Given the description of an element on the screen output the (x, y) to click on. 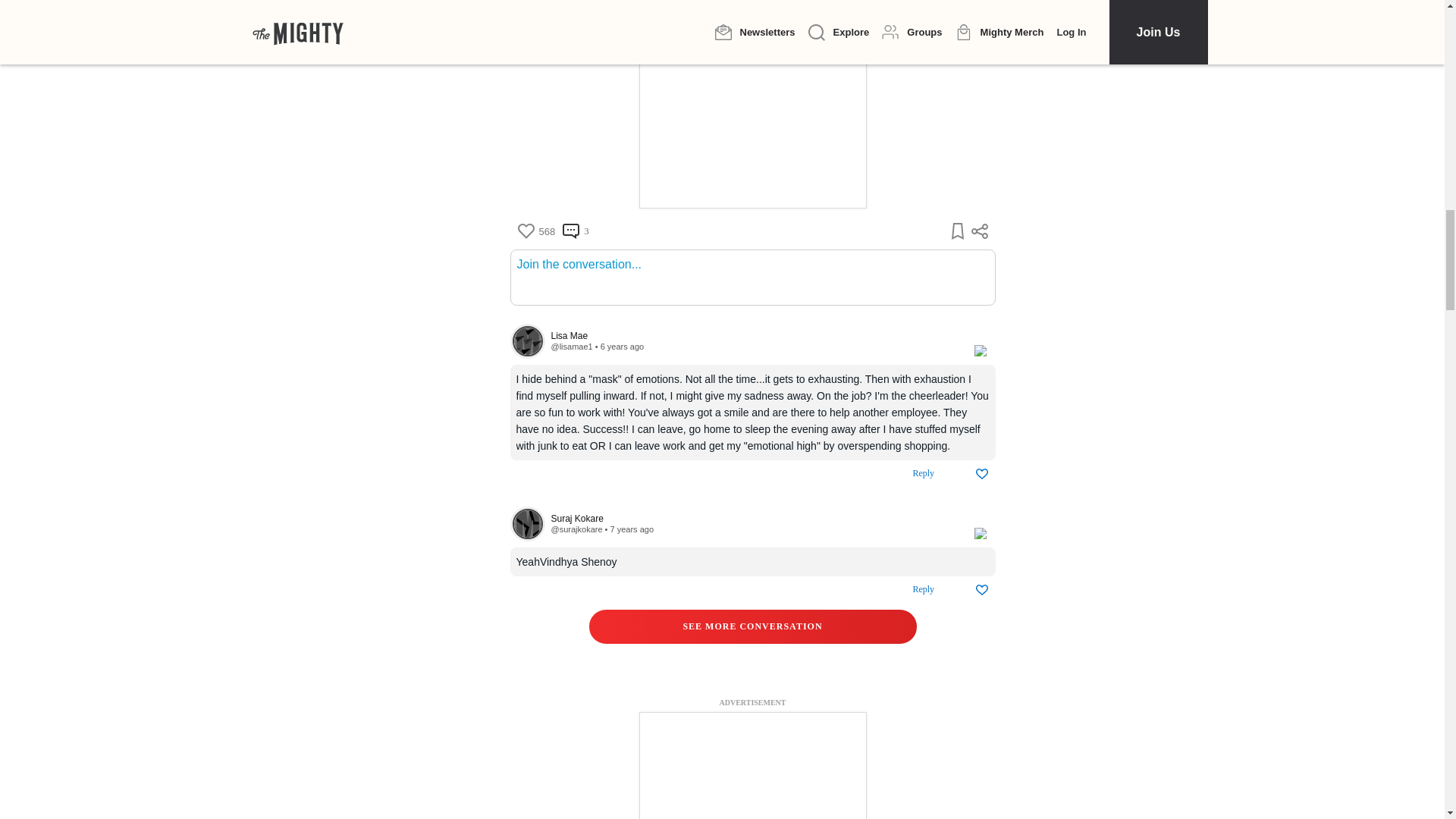
View their profile (754, 519)
View their profile (754, 336)
View their profile (571, 346)
568 (535, 231)
View their profile (526, 523)
View their profile (526, 340)
View their profile (576, 528)
